Given the description of an element on the screen output the (x, y) to click on. 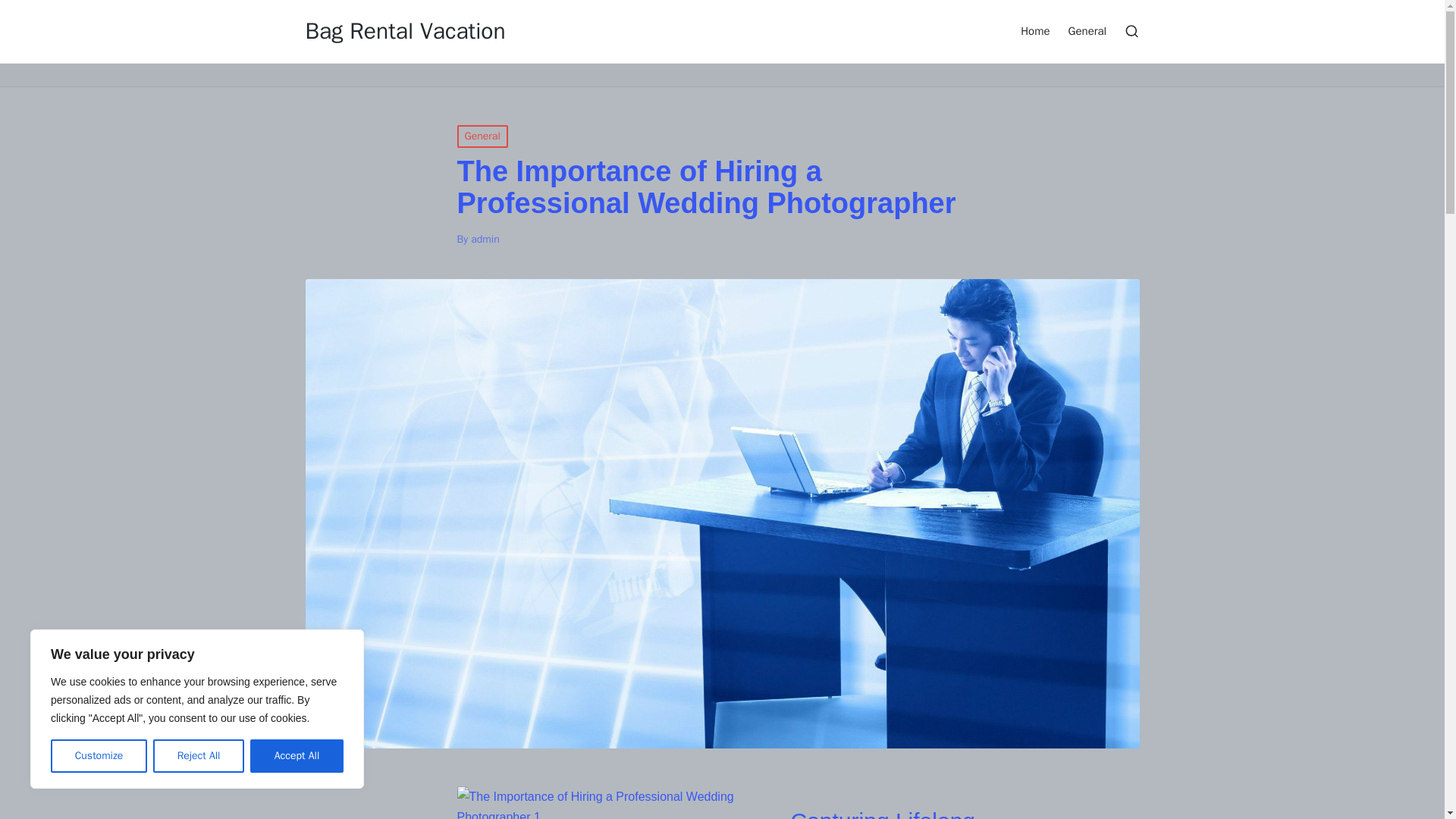
Reject All (198, 756)
Bag Rental Vacation (404, 31)
Home (1034, 30)
Customize (98, 756)
General (481, 136)
admin (484, 238)
Accept All (296, 756)
View all posts by  (484, 238)
General (1087, 30)
